Given the description of an element on the screen output the (x, y) to click on. 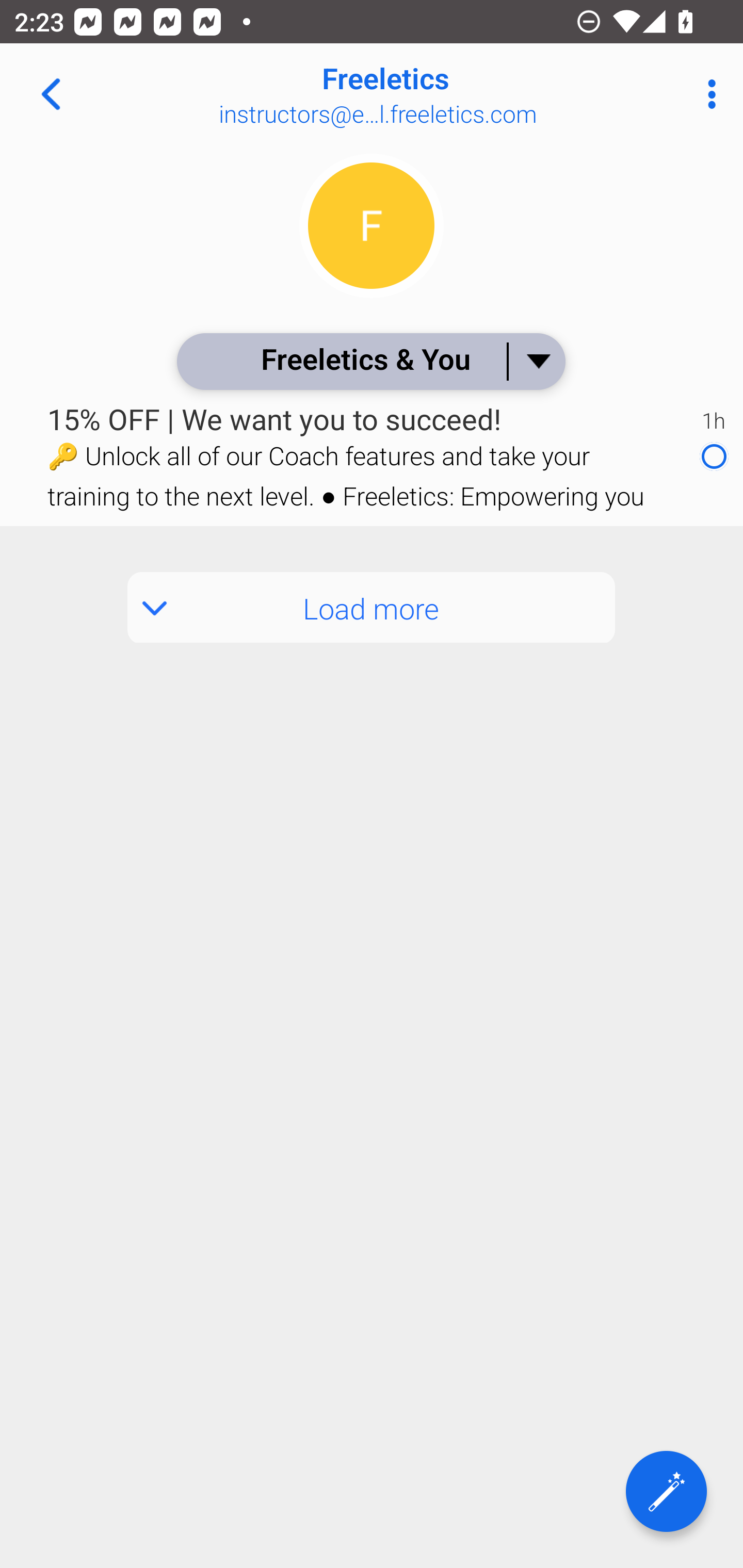
Navigate up (50, 93)
Freeletics instructors@email.freeletics.com (436, 93)
More Options (706, 93)
Freeletics & You (370, 361)
Load more (371, 607)
